Given the description of an element on the screen output the (x, y) to click on. 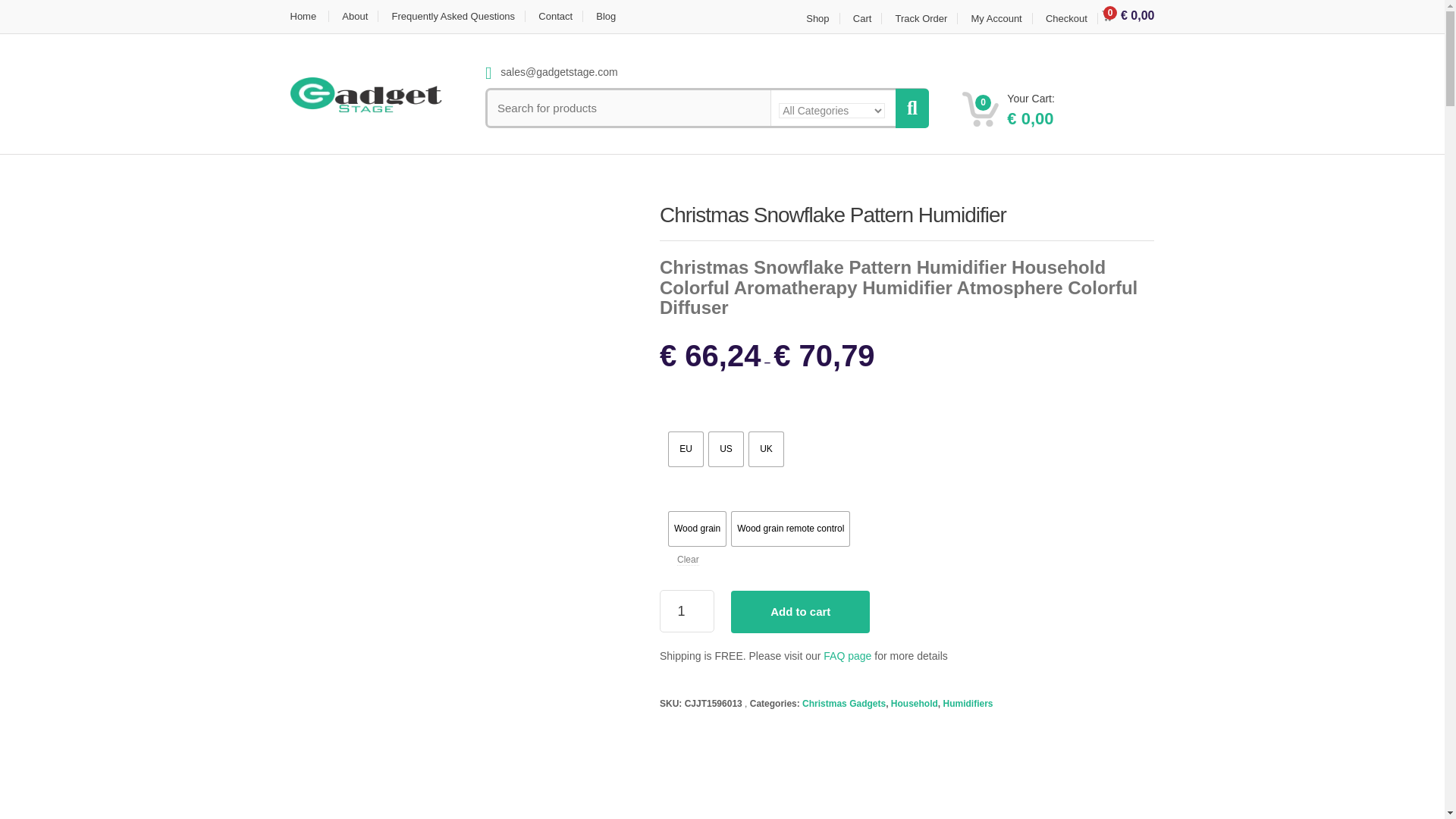
FAQ page (847, 655)
Home (309, 16)
Clear (687, 559)
My Account (996, 18)
Blog (606, 16)
Cart (862, 18)
Checkout (1066, 18)
Frequently Asked Questions (453, 16)
1 (686, 610)
Checkout (1066, 18)
